Given the description of an element on the screen output the (x, y) to click on. 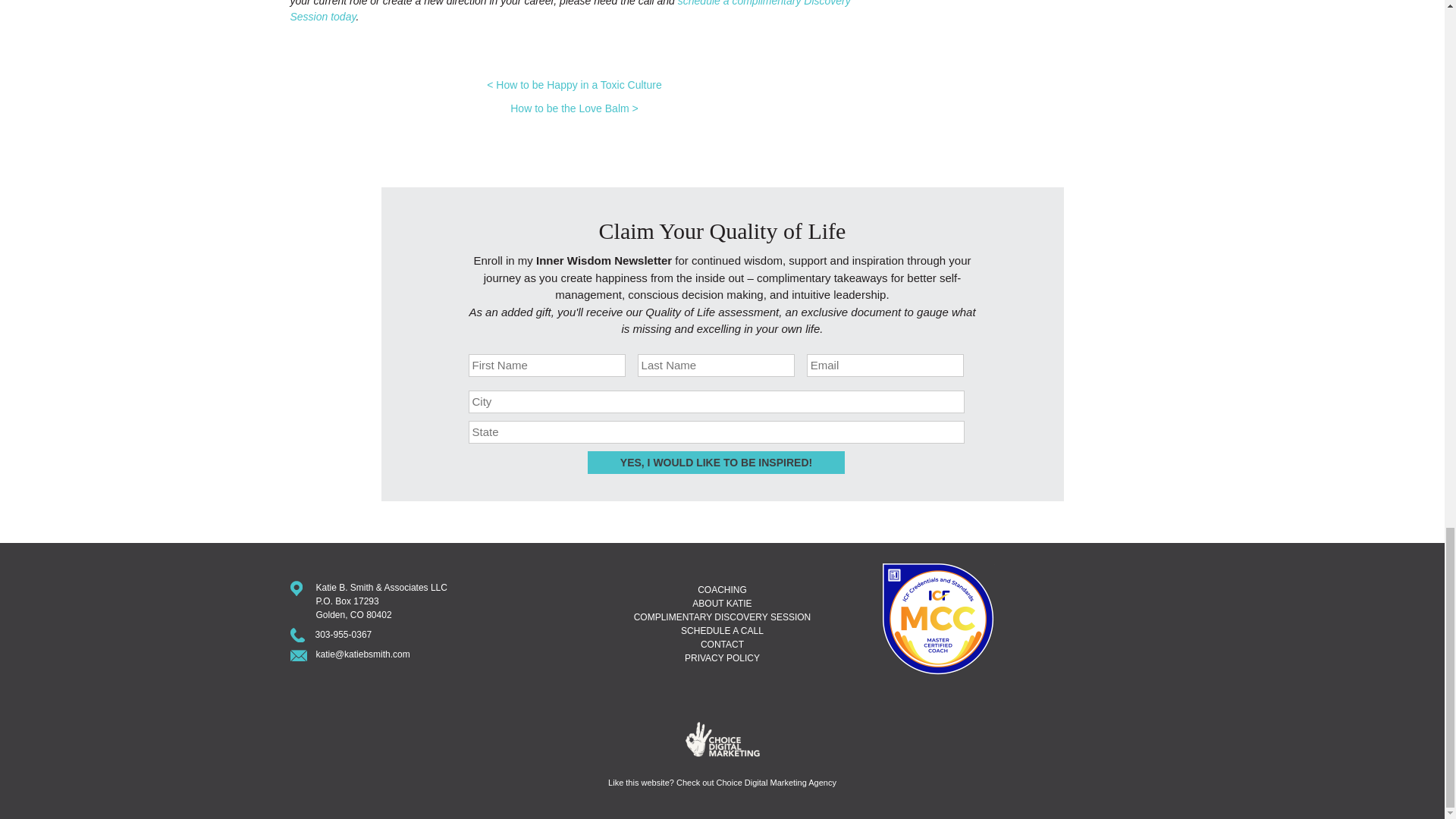
Yes, I would like to be inspired! (716, 462)
schedule a complimentary Discovery Session today (569, 11)
